Given the description of an element on the screen output the (x, y) to click on. 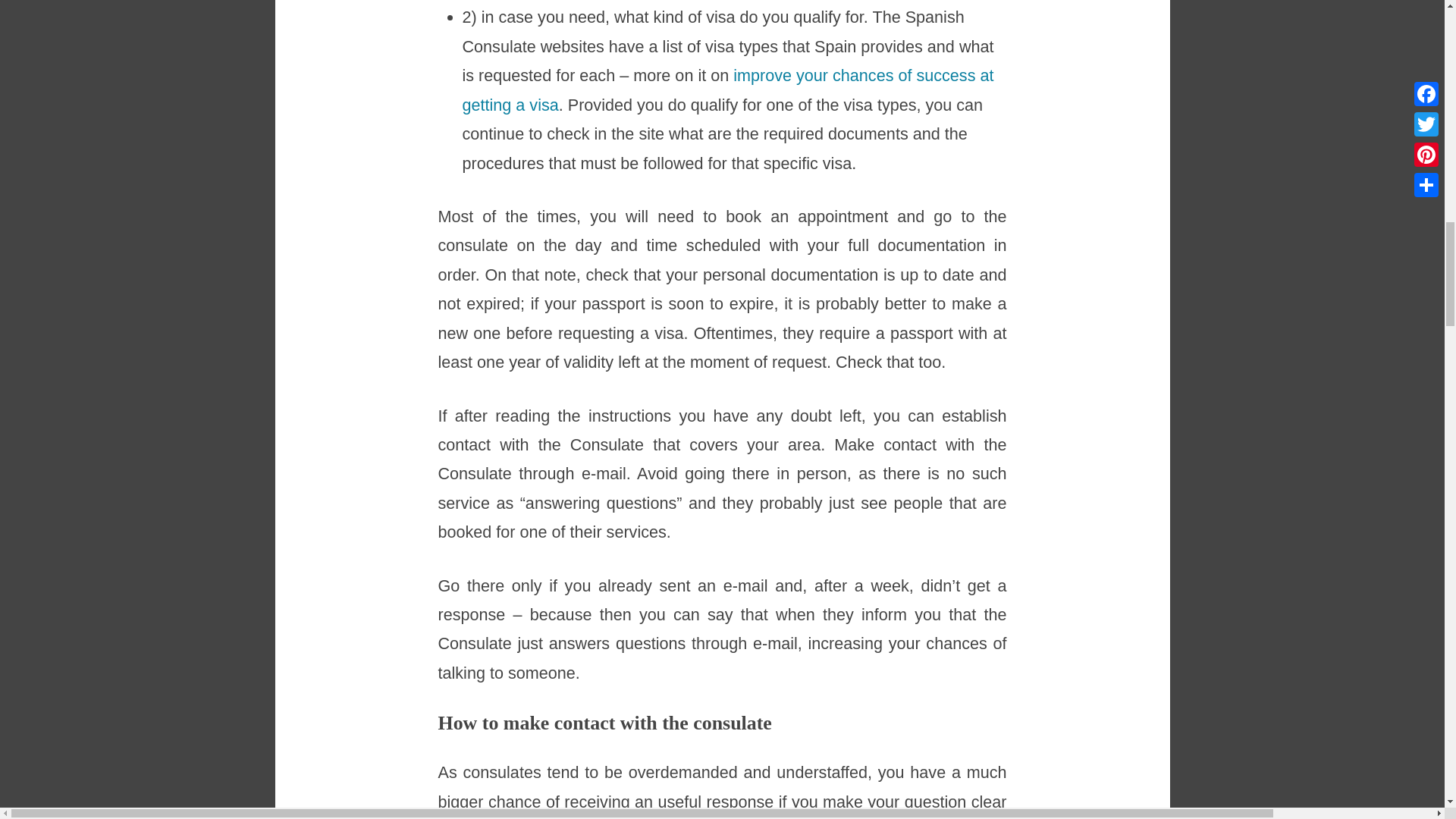
improve your chances of success at getting a visa (728, 89)
